Given the description of an element on the screen output the (x, y) to click on. 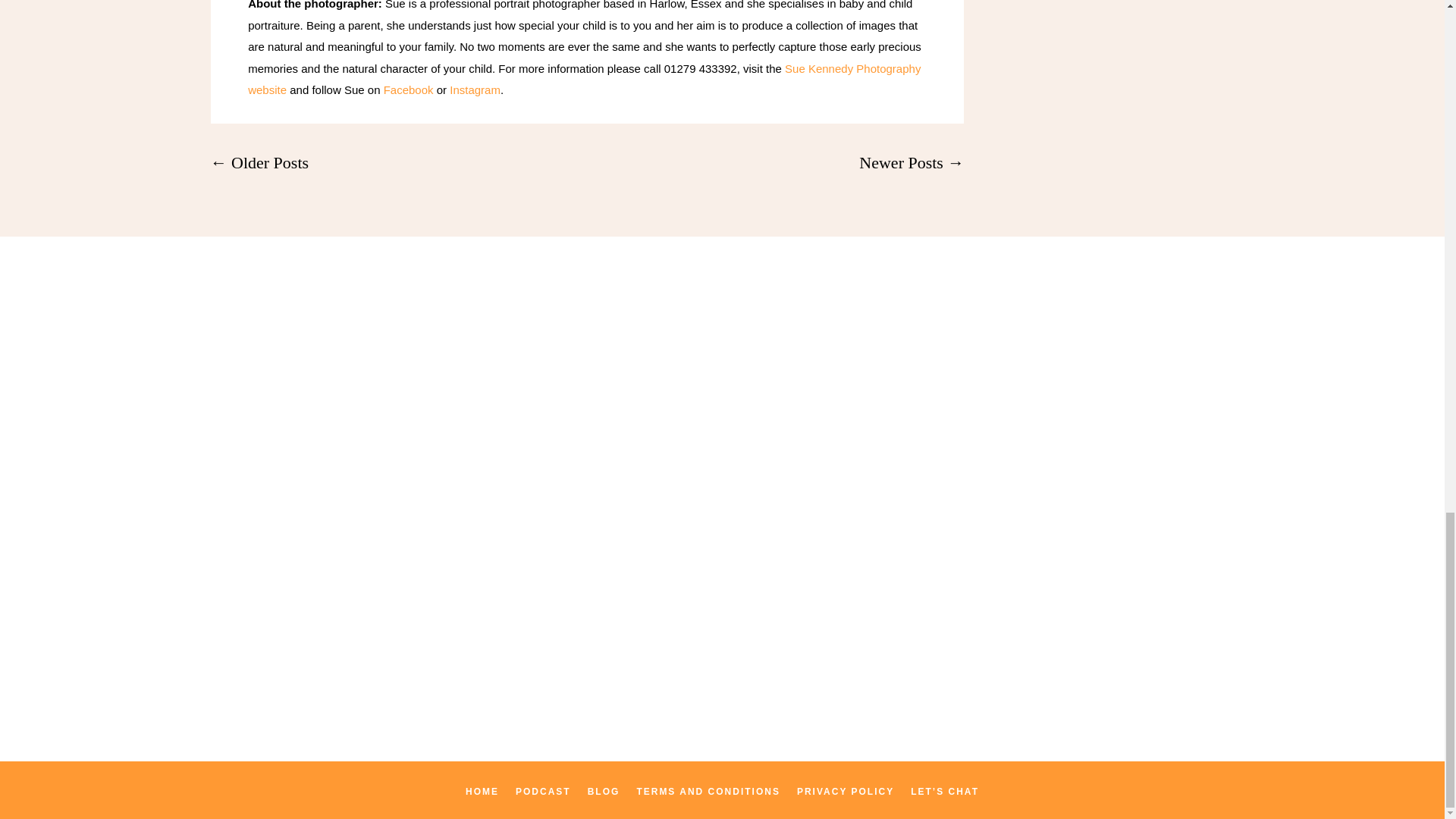
Facebook (406, 89)
Instagram (473, 89)
Sue Kennedy Photography website (583, 79)
